Given the description of an element on the screen output the (x, y) to click on. 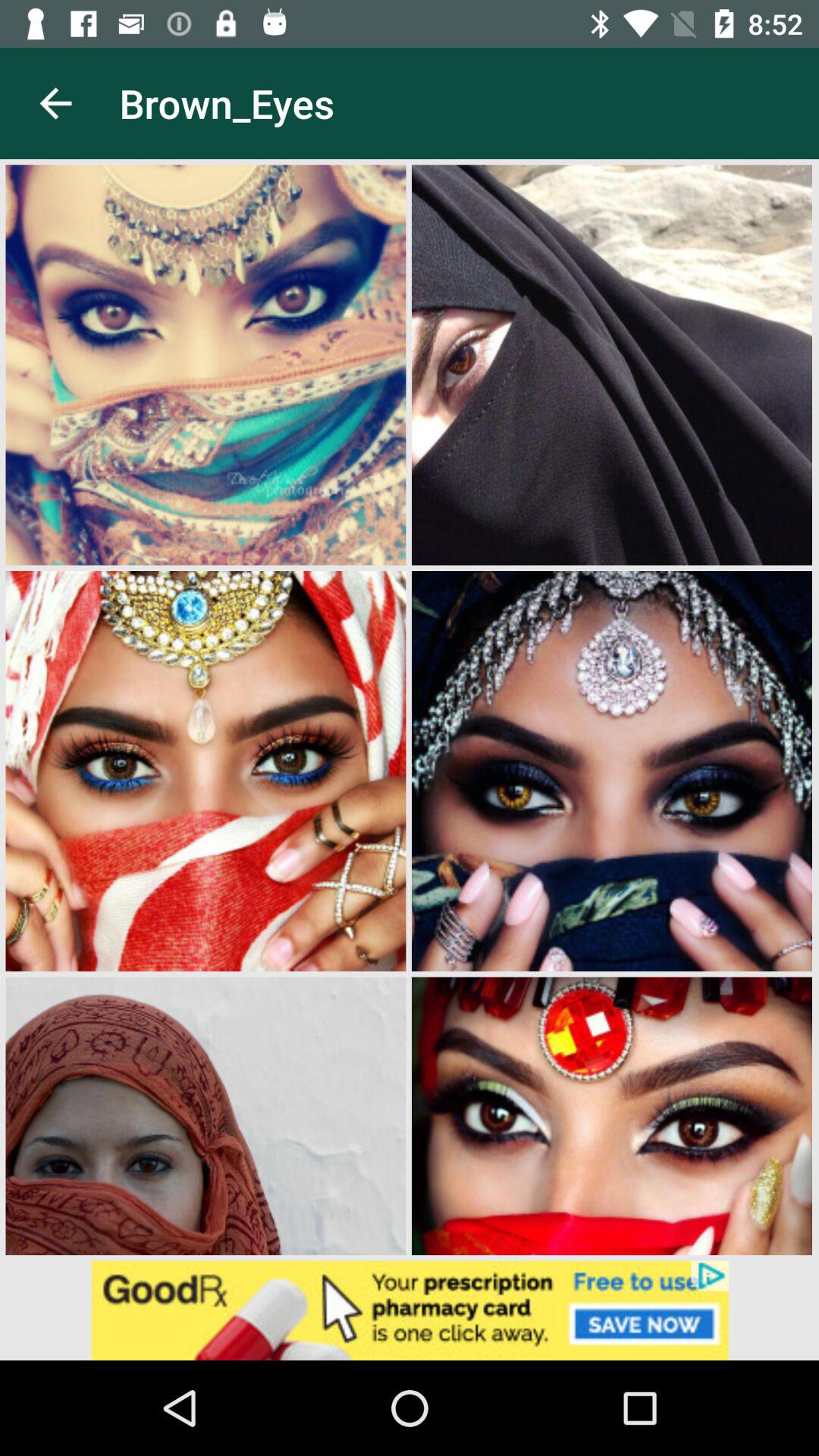
open advertisement (409, 1310)
